Given the description of an element on the screen output the (x, y) to click on. 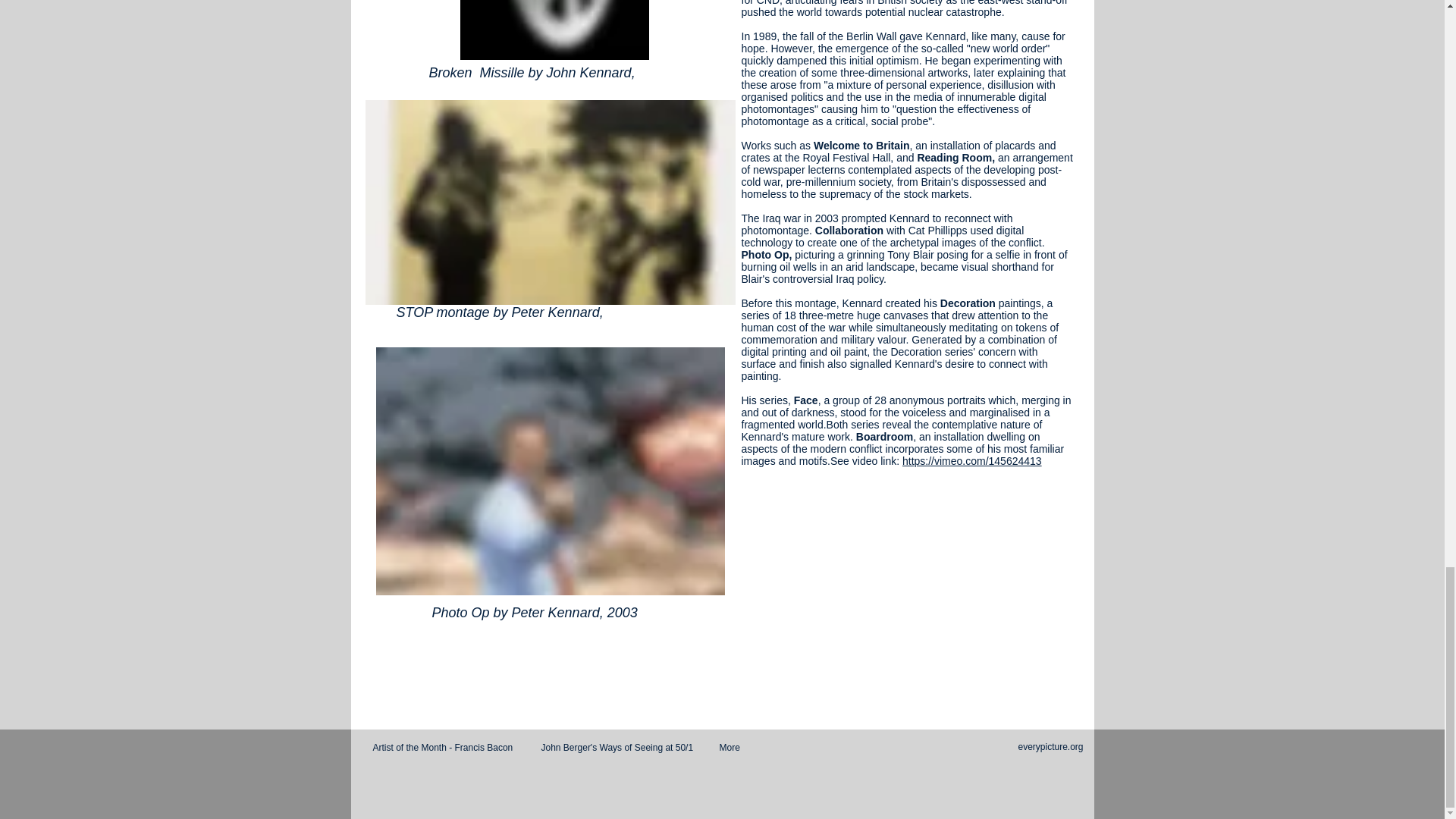
stop.jpg (550, 201)
broken missile.jpg (553, 29)
